Given the description of an element on the screen output the (x, y) to click on. 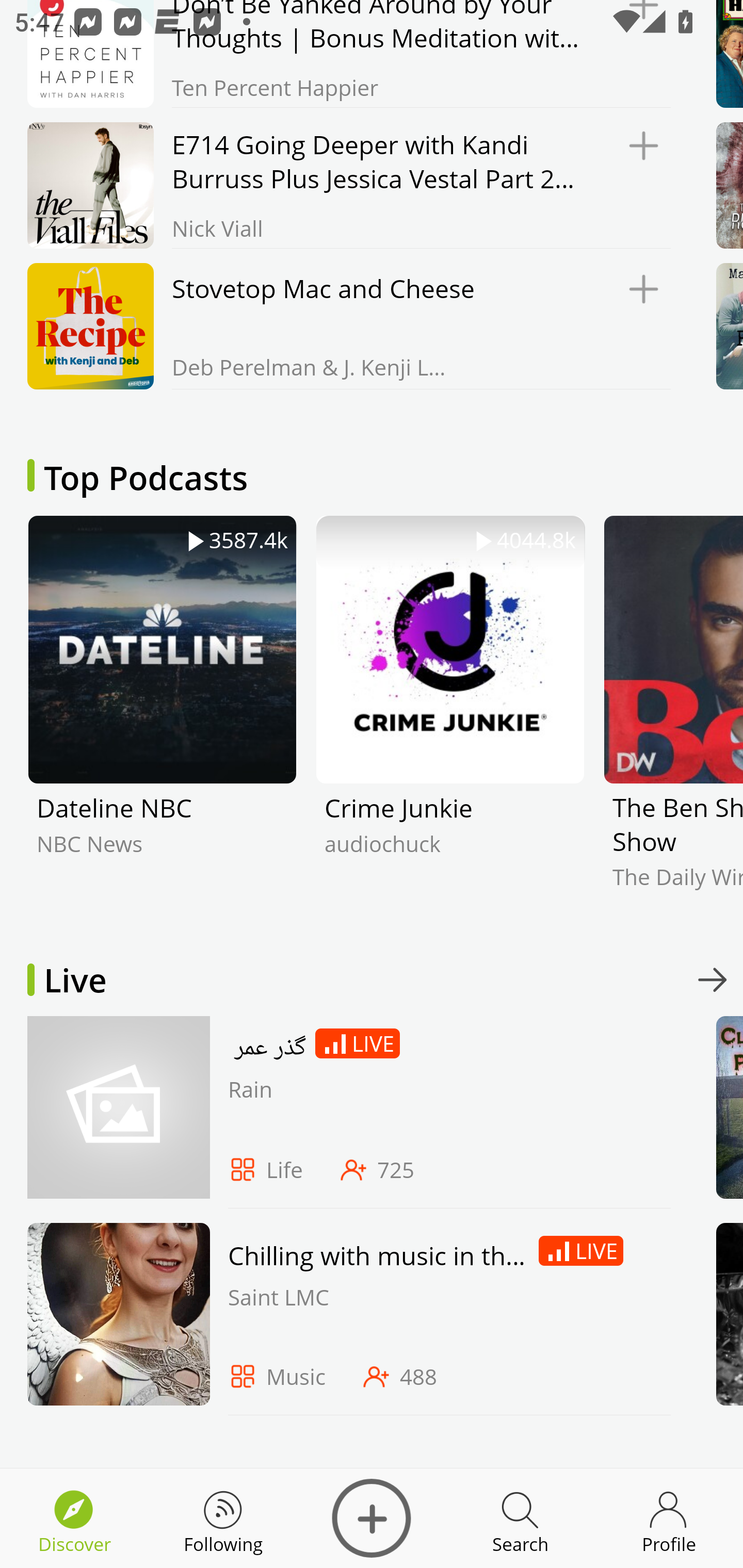
3587.4k Dateline NBC NBC News (162, 717)
4044.8k Crime Junkie audiochuck (450, 717)
The Ben Shapiro Show The Daily Wire (673, 717)
گذر عمر  LIVE Rain Life 725 (344, 1112)
Discover Following (222, 1518)
Discover (371, 1518)
Discover Search (519, 1518)
Discover Profile (668, 1518)
